Given the description of an element on the screen output the (x, y) to click on. 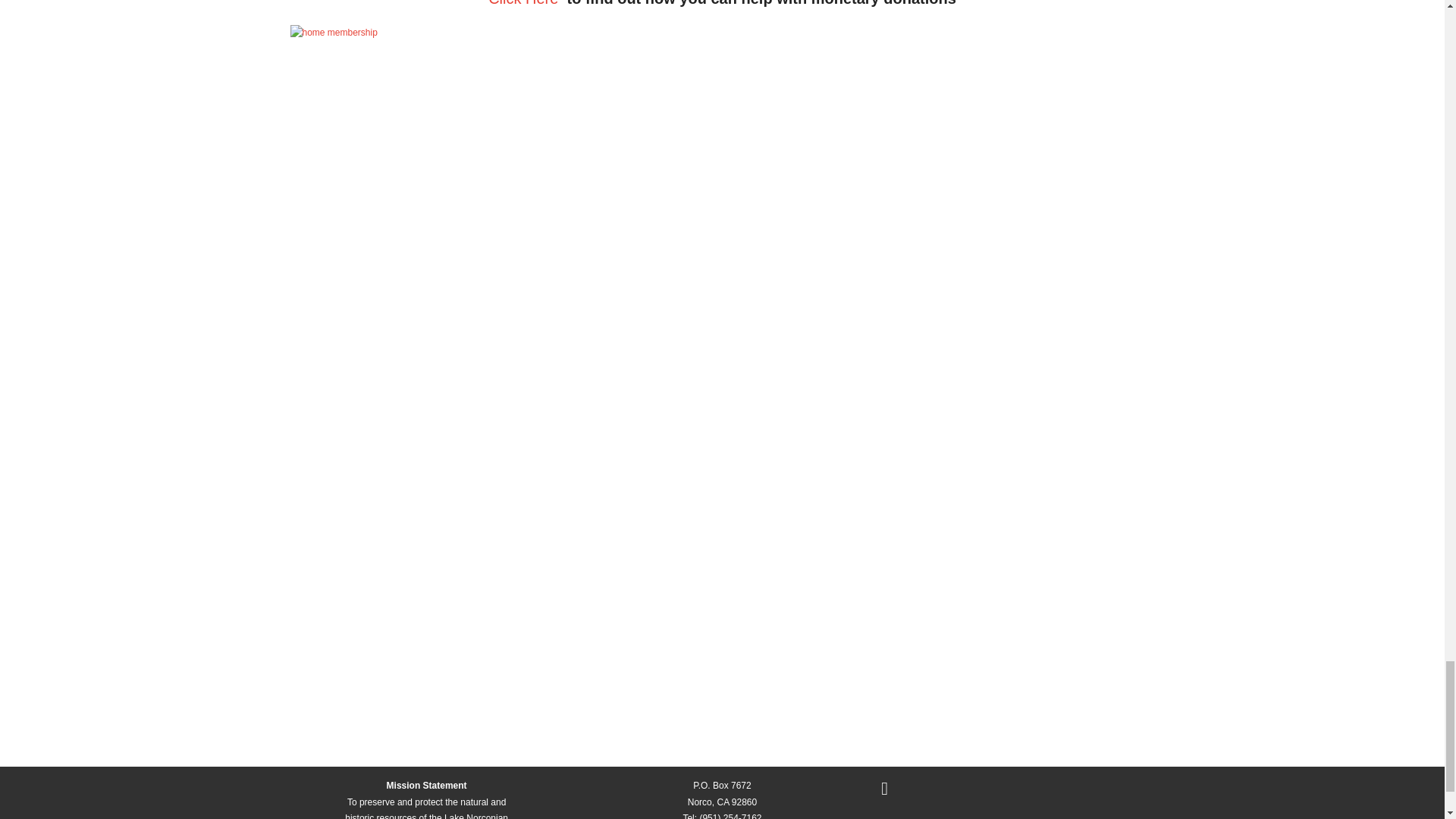
Click Here (522, 3)
